Given the description of an element on the screen output the (x, y) to click on. 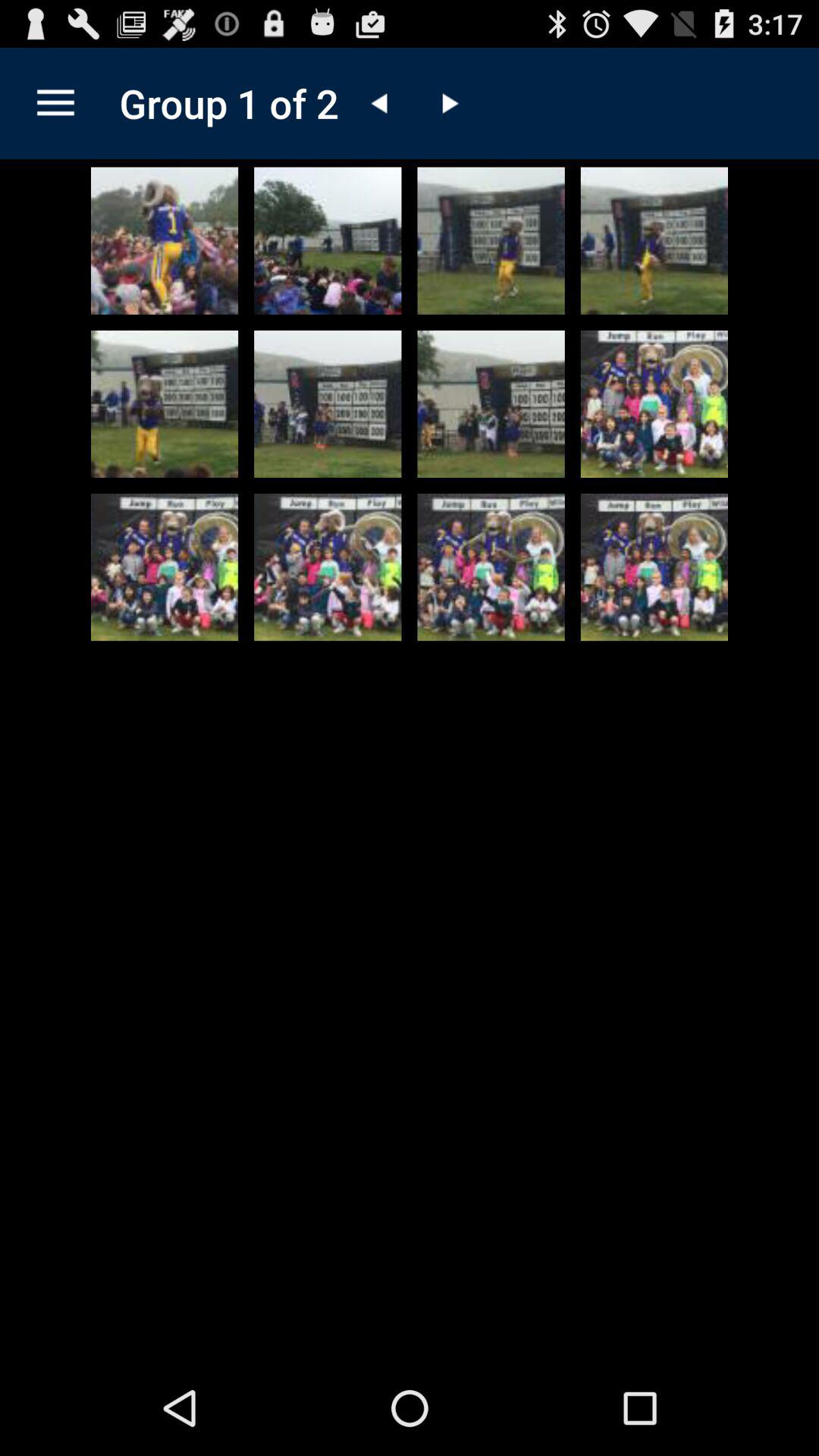
enlarge image (164, 240)
